Given the description of an element on the screen output the (x, y) to click on. 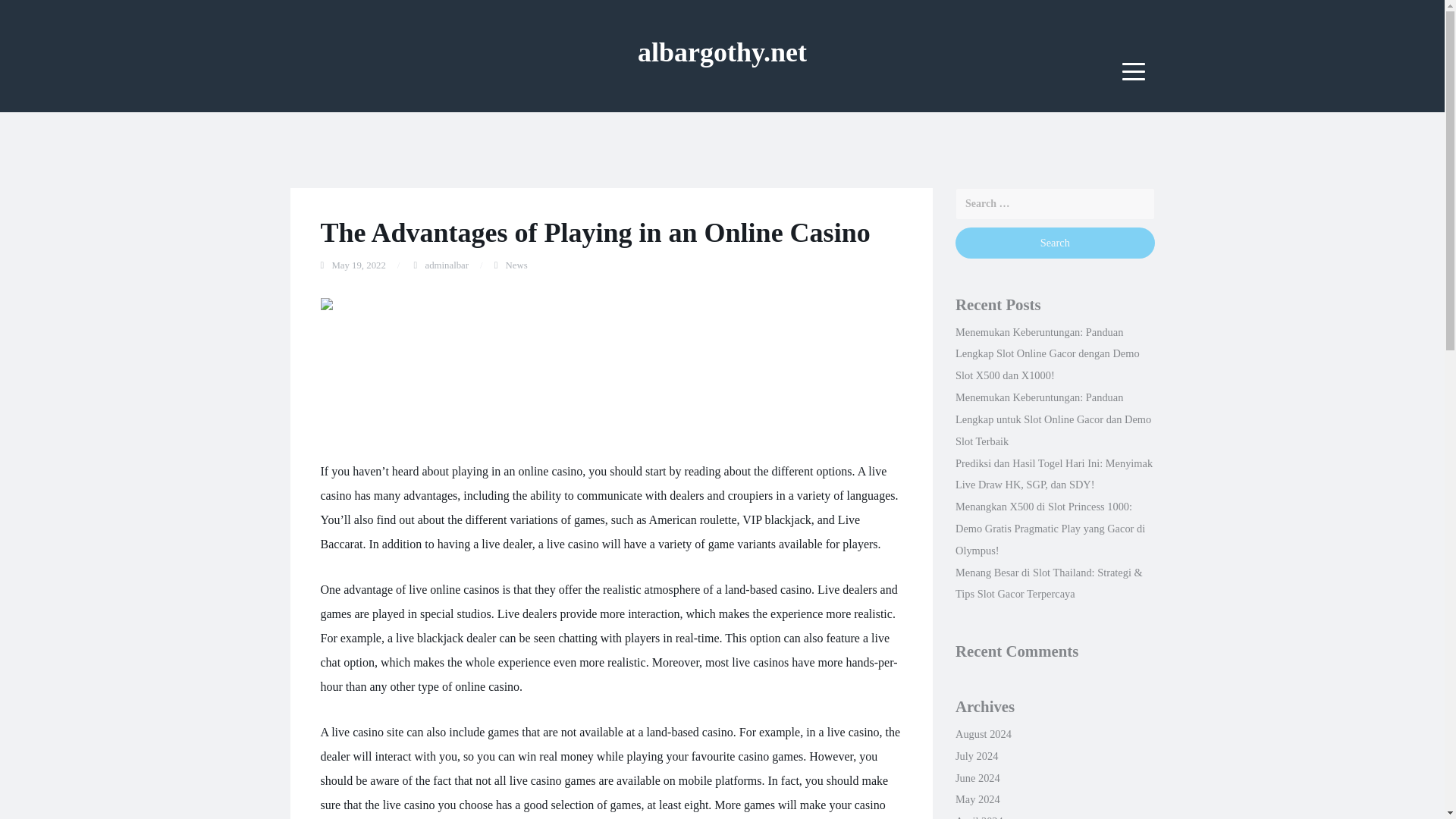
News (516, 265)
Search (1054, 242)
Search (1054, 242)
Search (1054, 242)
April 2024 (979, 816)
albargothy.net (721, 51)
August 2024 (983, 734)
May 19, 2022 (358, 265)
